Given the description of an element on the screen output the (x, y) to click on. 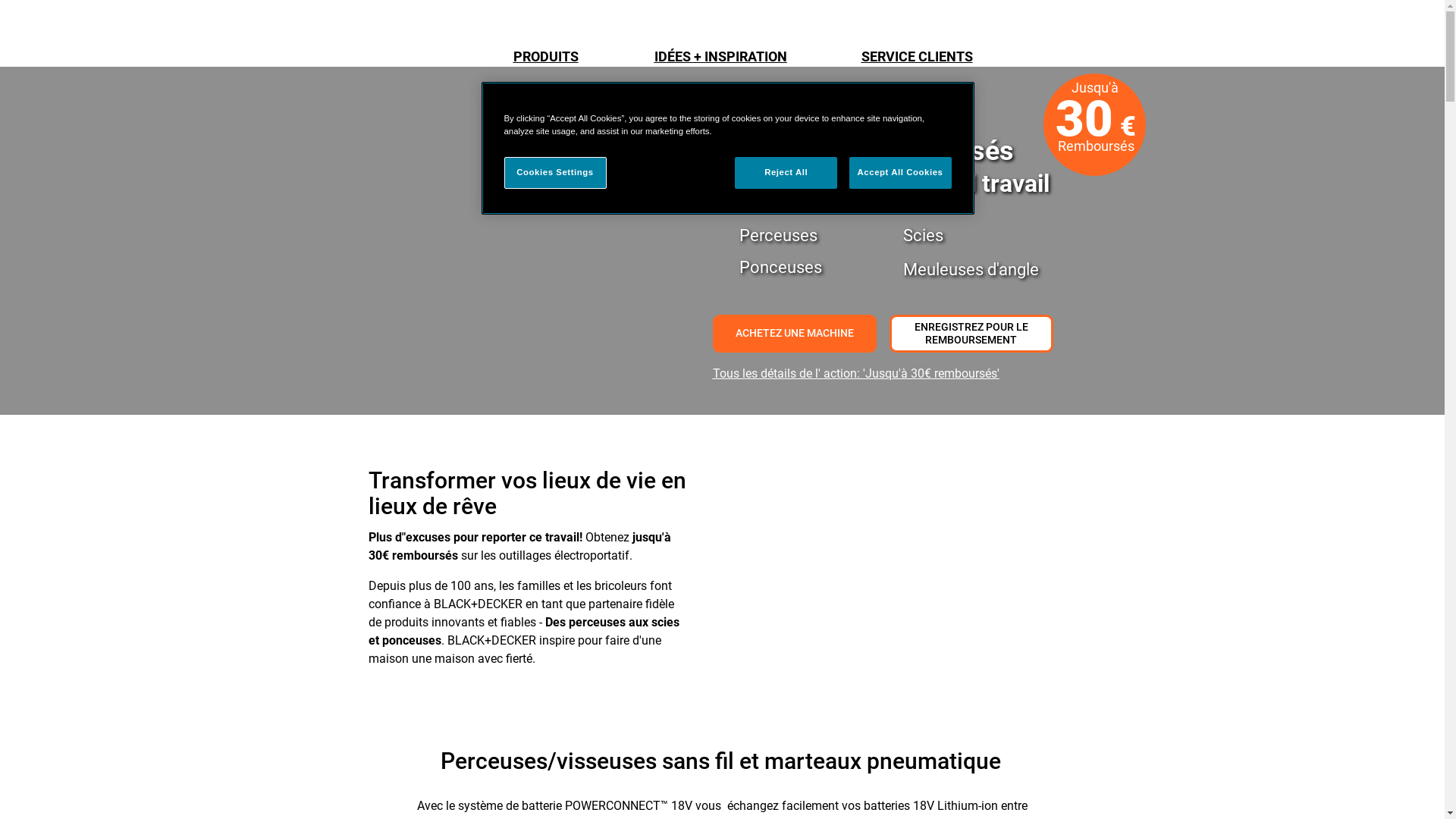
Cookies Settings Element type: text (554, 172)
ACHETEZ UNE MACHINE Element type: text (794, 333)
PRODUITS Element type: text (544, 57)
ENREGISTREZ POUR LE REMBOURSEMENT Element type: text (970, 333)
Reject All Element type: text (785, 172)
Accept All Cookies Element type: text (900, 172)
SERVICE CLIENTS Element type: text (916, 57)
